Given the description of an element on the screen output the (x, y) to click on. 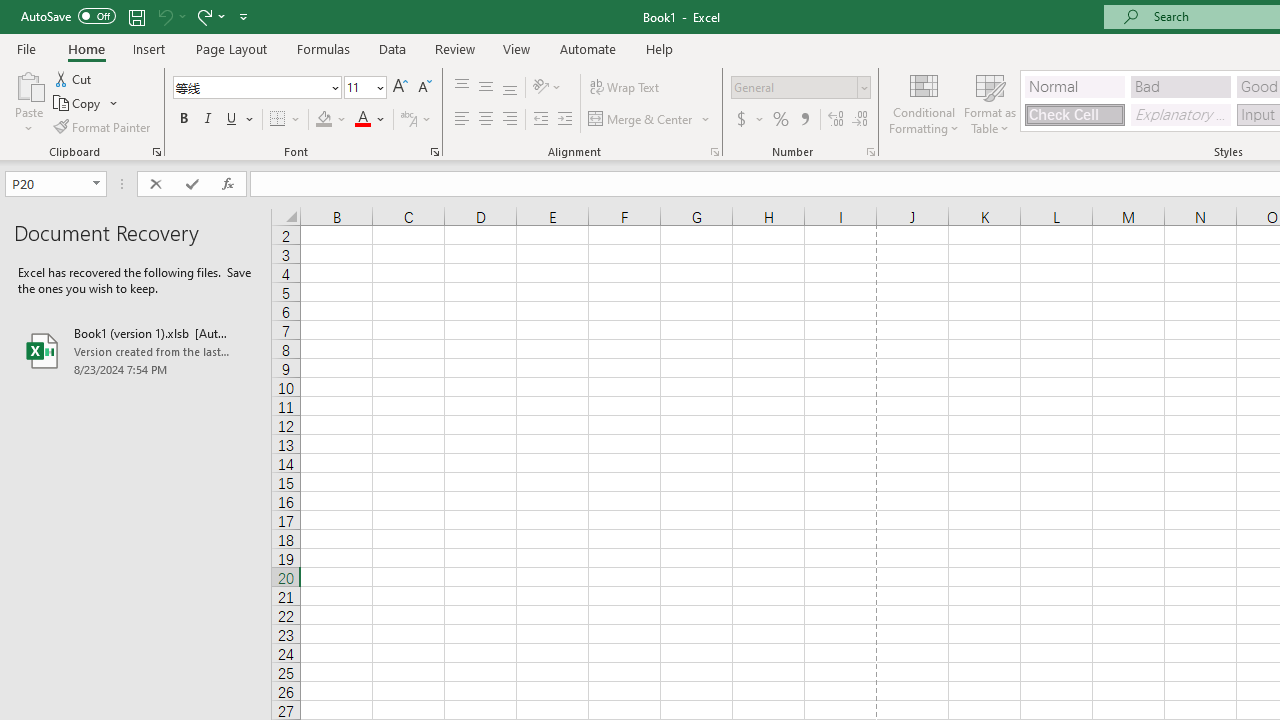
Format as Table (990, 102)
Accounting Number Format (741, 119)
Fill Color (331, 119)
Font (256, 87)
Bad (1180, 86)
Borders (285, 119)
Align Left (461, 119)
Center (485, 119)
Copy (85, 103)
Accounting Number Format (749, 119)
